Given the description of an element on the screen output the (x, y) to click on. 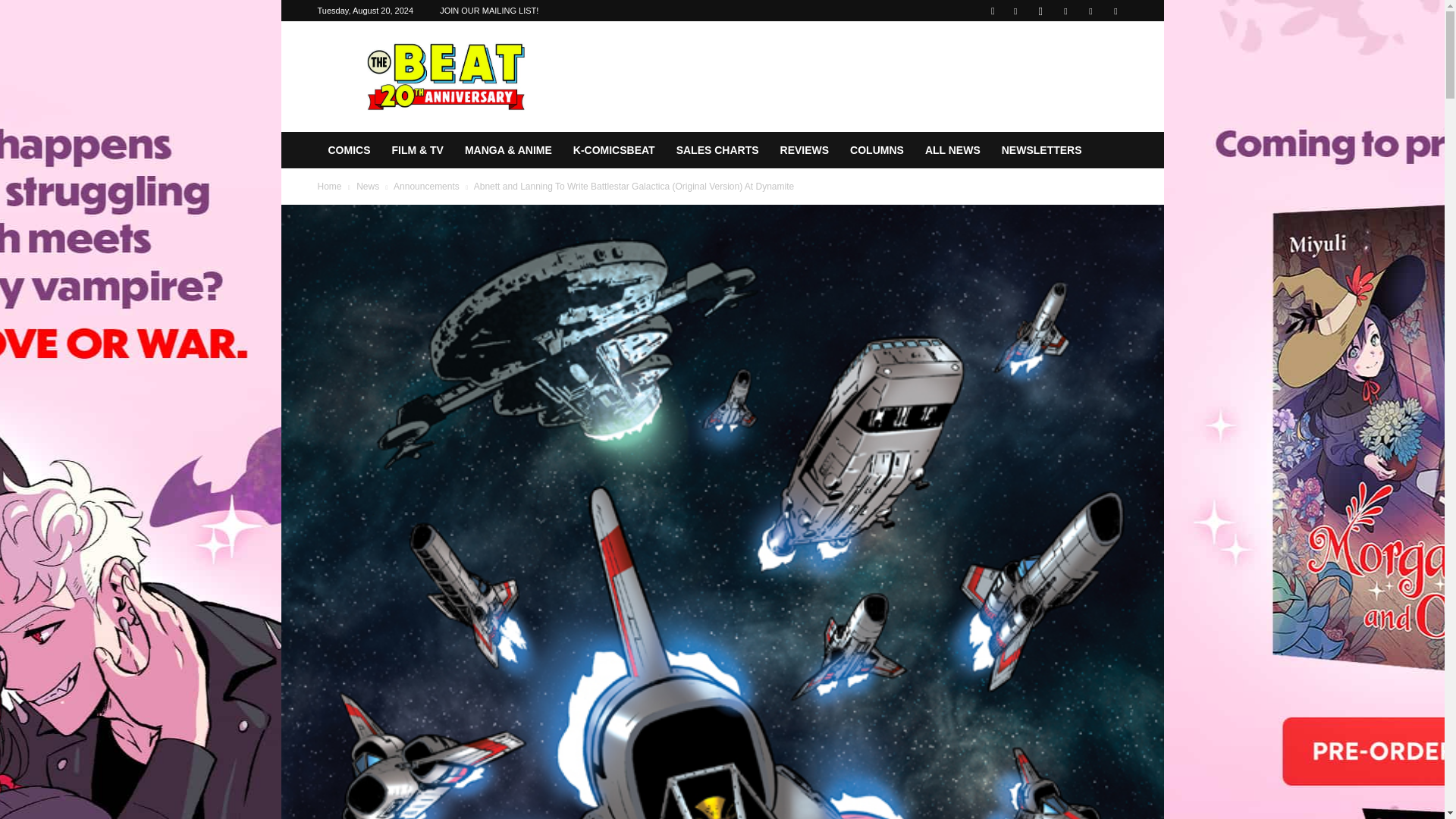
Youtube (1114, 10)
Instagram (1040, 10)
SALES CHARTS (717, 149)
RSS (1065, 10)
Twitter (1090, 10)
COMICS (348, 149)
Search (1085, 64)
Home (328, 185)
View all posts in News (367, 185)
View all posts in Announcements (426, 185)
